Given the description of an element on the screen output the (x, y) to click on. 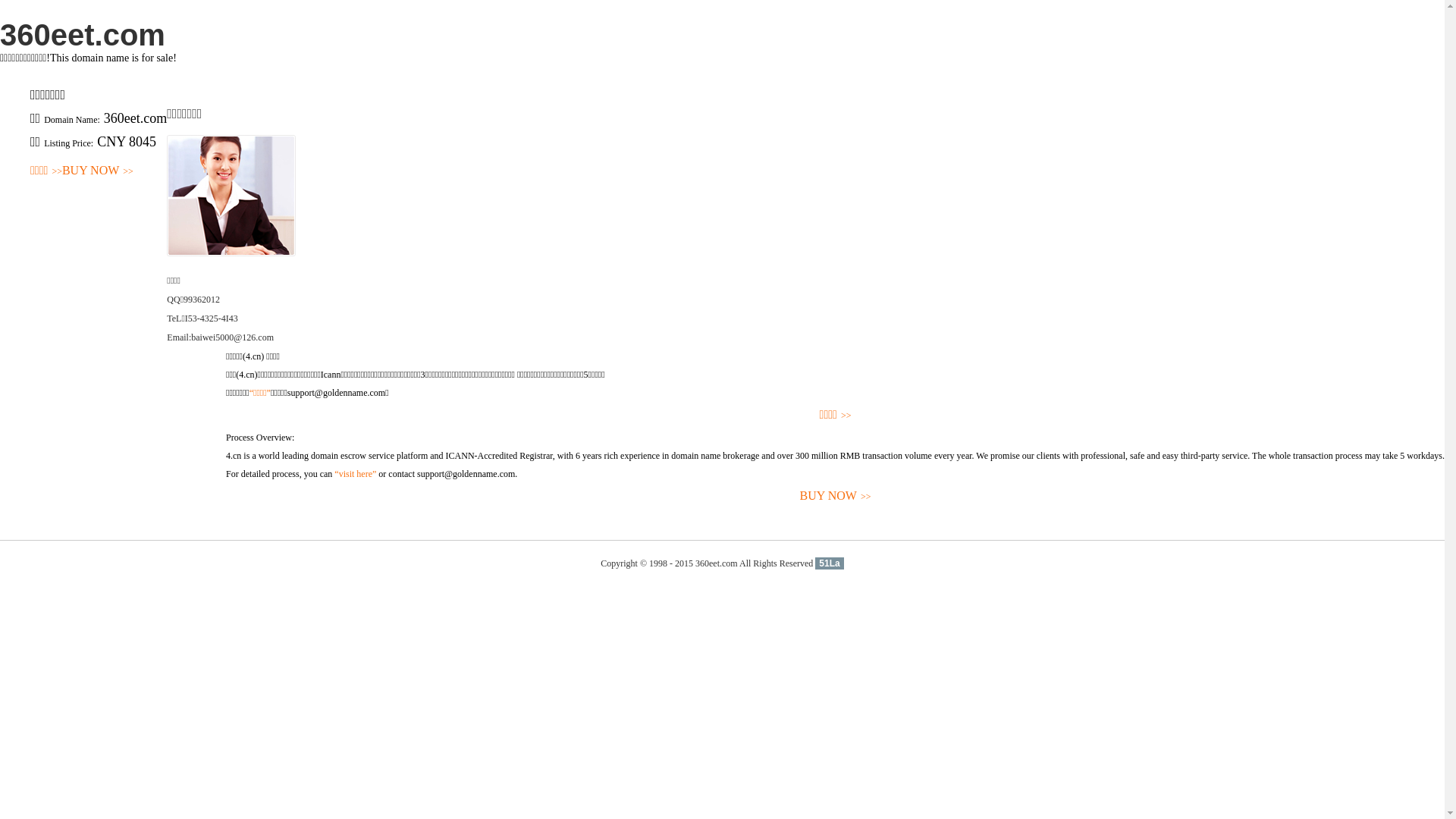
51La Element type: text (829, 563)
BUY NOW>> Element type: text (834, 496)
BUY NOW>> Element type: text (97, 170)
